Given the description of an element on the screen output the (x, y) to click on. 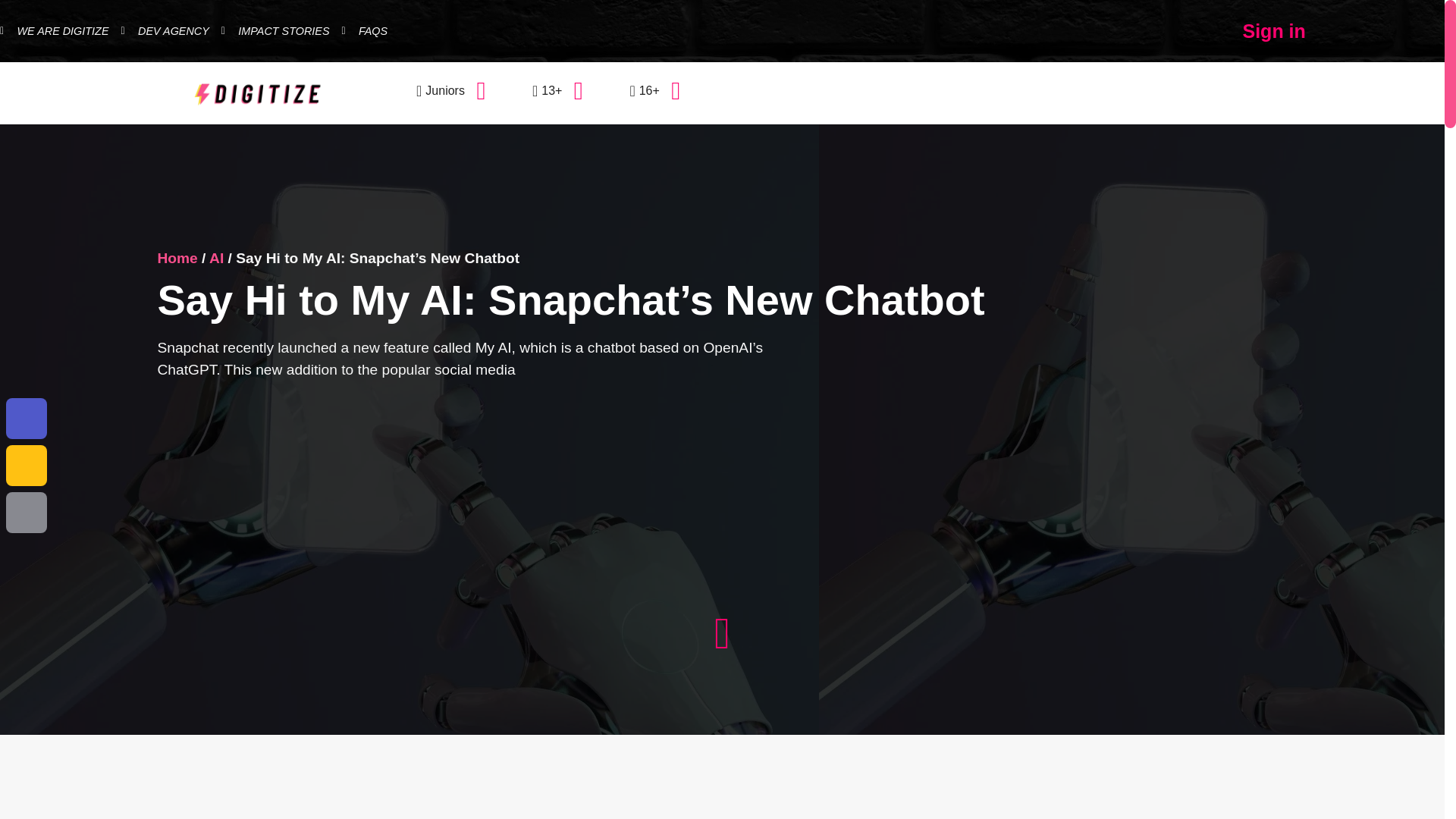
Copy Link (25, 512)
Sign in (1273, 30)
FAQS (365, 31)
DEV AGENCY (164, 31)
Google Classroom (25, 465)
WE ARE DIGITIZE (54, 31)
IMPACT STORIES (275, 31)
Teams (25, 418)
